Given the description of an element on the screen output the (x, y) to click on. 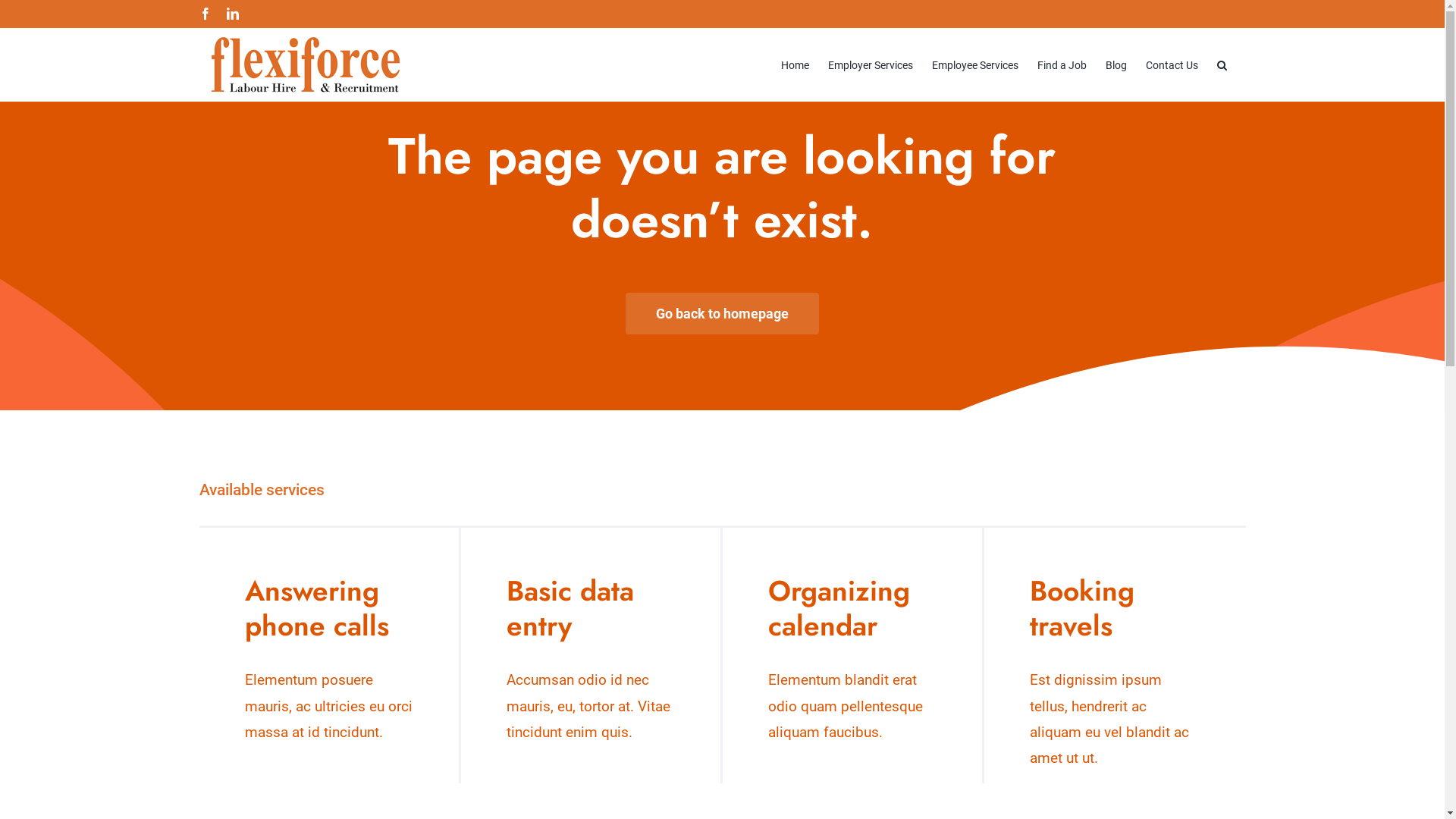
Facebook Element type: text (204, 13)
Home Element type: text (795, 63)
Blog Element type: text (1115, 63)
Search Element type: hover (1221, 63)
Find a Job Element type: text (1061, 63)
Go back to homepage Element type: text (722, 313)
Employer Services Element type: text (870, 63)
LinkedIn Element type: text (231, 13)
Employee Services Element type: text (974, 63)
Contact Us Element type: text (1171, 63)
